Given the description of an element on the screen output the (x, y) to click on. 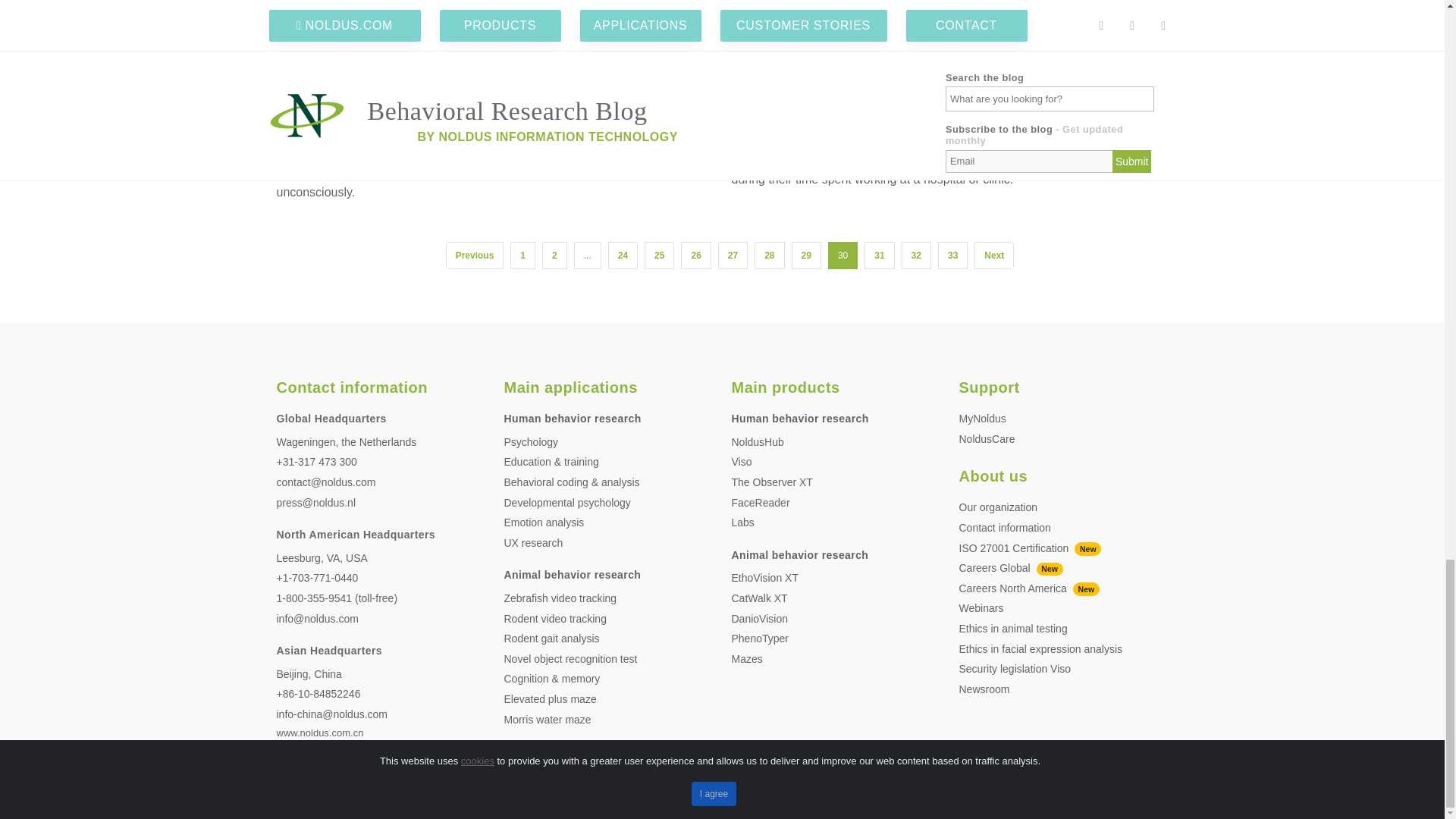
Human-robot interaction: Can you trust a robot? (465, 40)
Observations of surgeons as a tool to assess competency (919, 40)
